Given the description of an element on the screen output the (x, y) to click on. 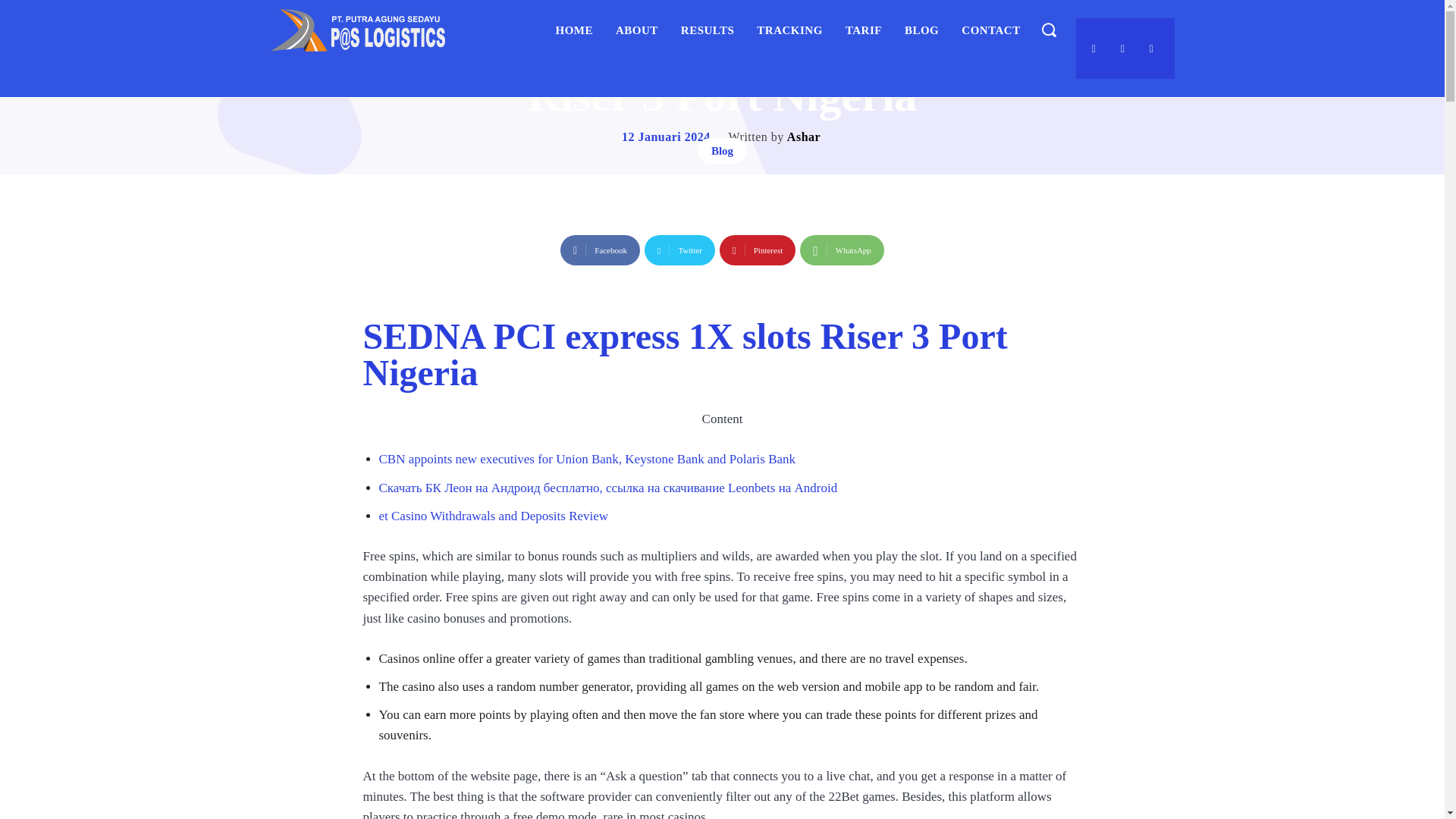
BLOG (921, 30)
TARIF (863, 30)
TRACKING (789, 30)
ABOUT (636, 30)
RESULTS (707, 30)
HOME (574, 30)
